Given the description of an element on the screen output the (x, y) to click on. 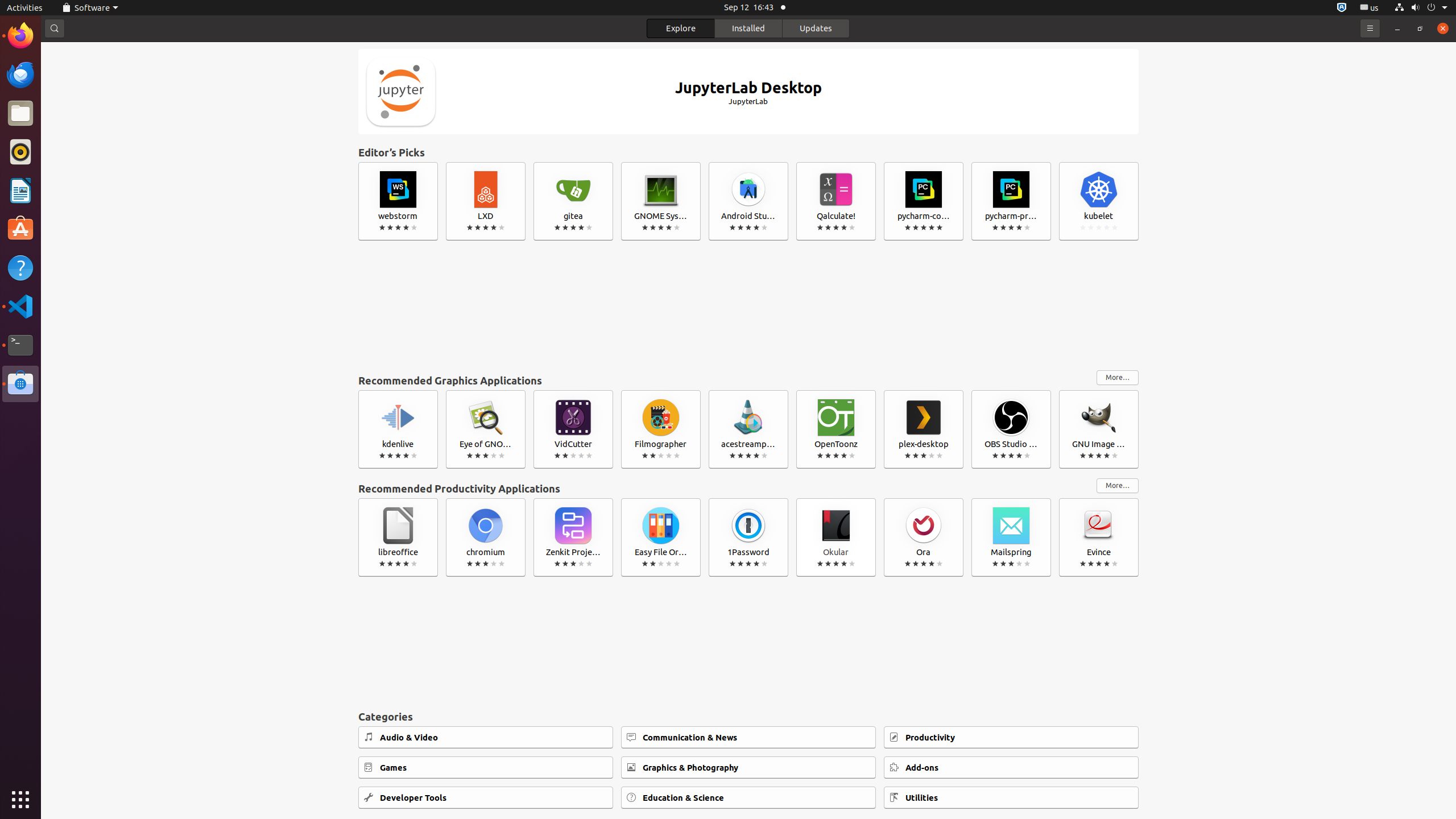
Filmographer Element type: push-button (660, 429)
Recommended Graphics Applications Element type: label (724, 380)
OBS Studio (unofficial) Element type: push-button (1011, 429)
Minimize Element type: push-button (1397, 27)
webstorm Element type: push-button (397, 201)
